Given the description of an element on the screen output the (x, y) to click on. 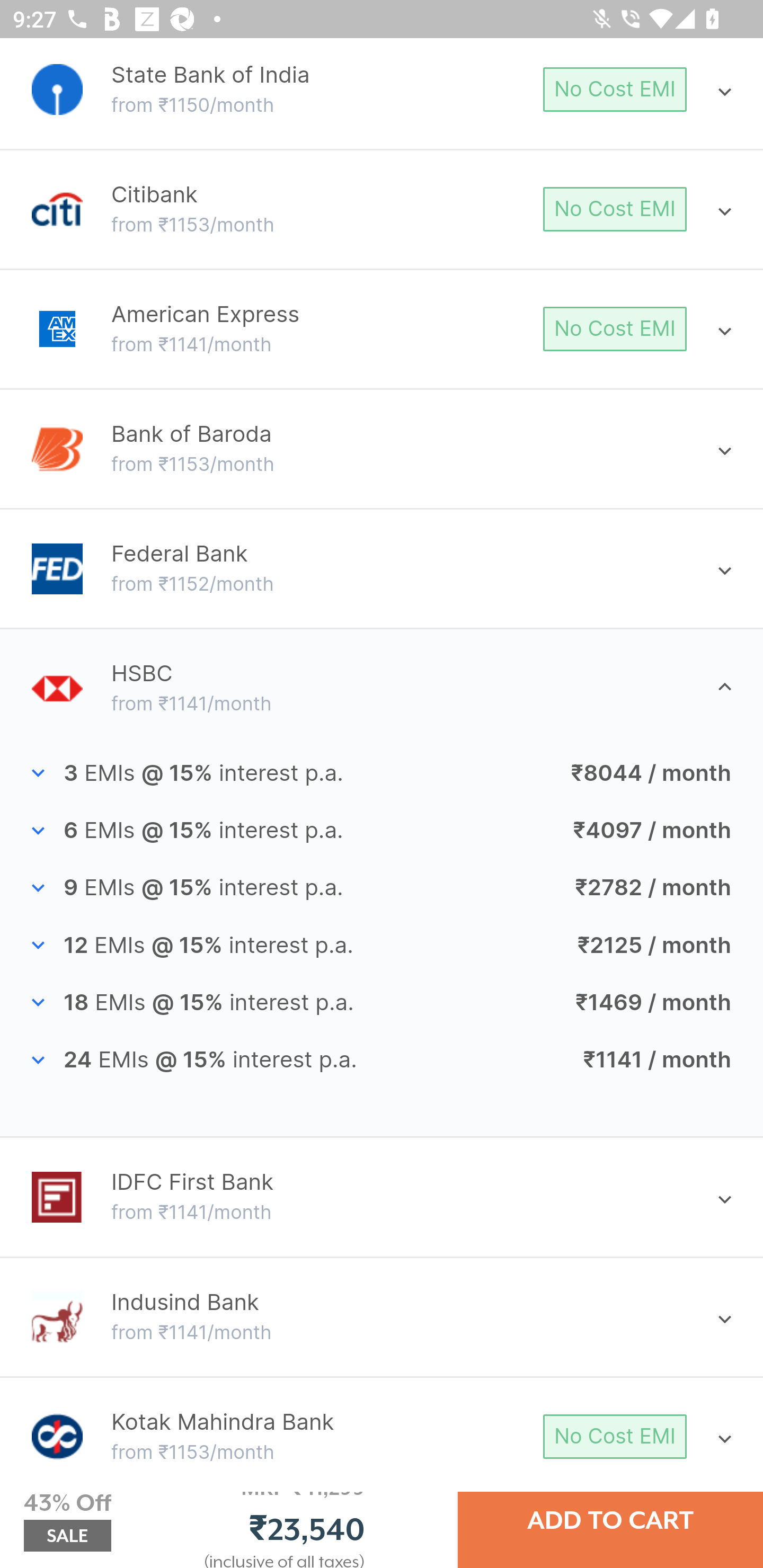
Citibank Citibank from ₹1153/month No Cost EMI (381, 208)
View offers (465, 293)
Bank of Baroda Bank of Baroda from ₹1153/month (381, 448)
Federal Bank Federal Bank from ₹1152/month (381, 568)
HSBC HSBC from ₹1141/month (381, 688)
3 EMIs @ 15% interest p.a. ₹8044 / month (381, 772)
6 EMIs @ 15% interest p.a. ₹4097 / month (381, 829)
9 EMIs @ 15% interest p.a. ₹2782 / month (381, 887)
12 EMIs @ 15% interest p.a. ₹2125 / month (381, 944)
18 EMIs @ 15% interest p.a. ₹1469 / month (381, 1002)
24 EMIs @ 15% interest p.a. ₹1141 / month (381, 1060)
IDFC First Bank IDFC First Bank from ₹1141/month (381, 1196)
Indusind Bank Indusind Bank from ₹1141/month (381, 1315)
ADD TO CART (610, 1520)
